Given the description of an element on the screen output the (x, y) to click on. 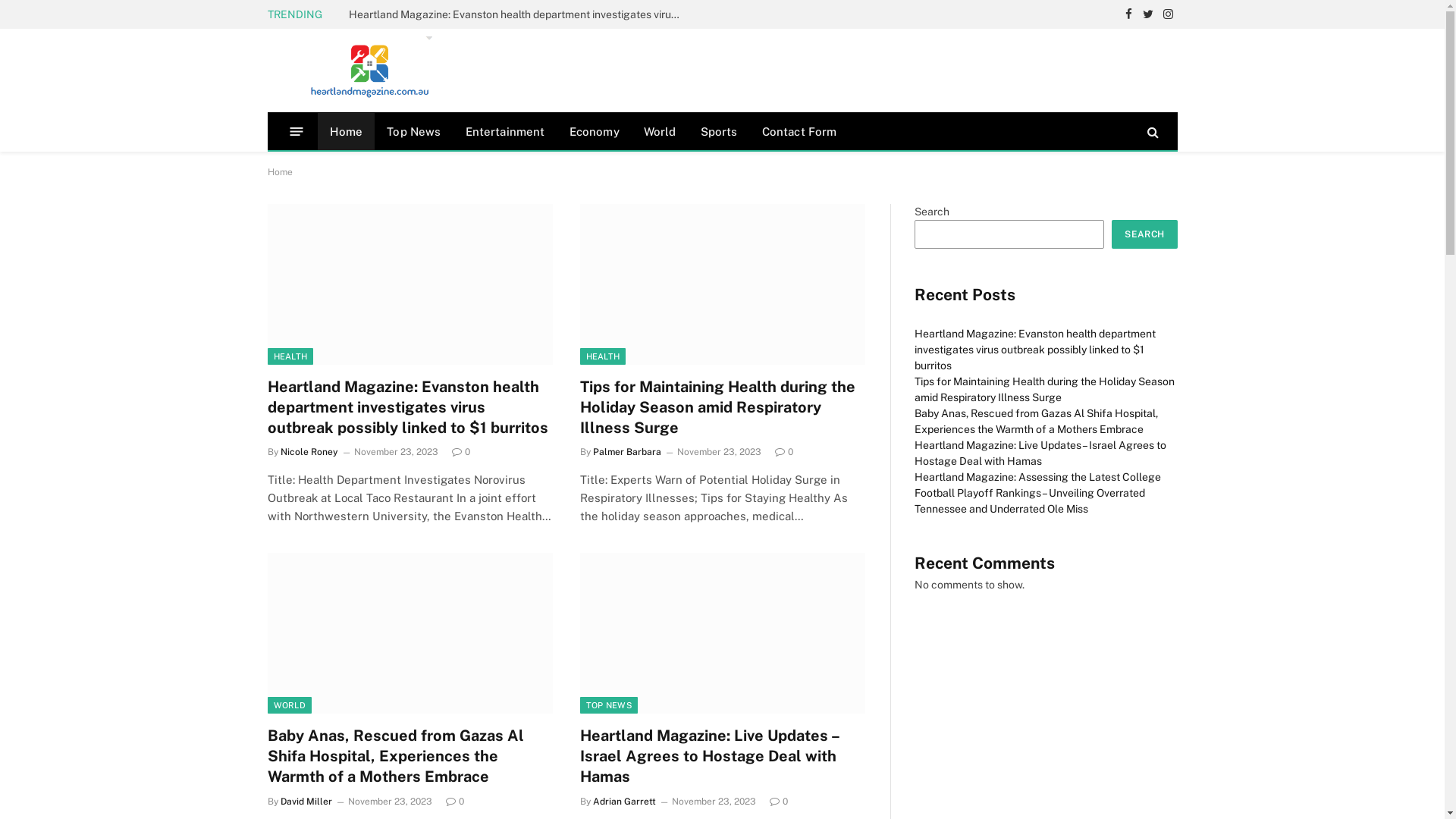
Twitter Element type: text (1148, 14)
0 Element type: text (784, 451)
0 Element type: text (460, 451)
Adrian Garrett Element type: text (624, 801)
WORLD Element type: text (288, 704)
TOP NEWS Element type: text (608, 704)
0 Element type: text (454, 801)
David Miller Element type: text (306, 801)
Facebook Element type: text (1128, 14)
Contact Form Element type: text (799, 131)
0 Element type: text (777, 801)
Instagram Element type: text (1167, 14)
HEALTH Element type: text (289, 356)
Search Element type: hover (1150, 131)
HEALTH Element type: text (602, 356)
Top News Element type: text (413, 131)
Palmer Barbara Element type: text (627, 451)
Nicole Roney Element type: text (309, 451)
Home Element type: text (345, 131)
News Releases NSW Northern Rivers Element type: hover (369, 70)
SEARCH Element type: text (1143, 233)
Economy Element type: text (594, 131)
Sports Element type: text (718, 131)
World Element type: text (659, 131)
Entertainment Element type: text (505, 131)
